Given the description of an element on the screen output the (x, y) to click on. 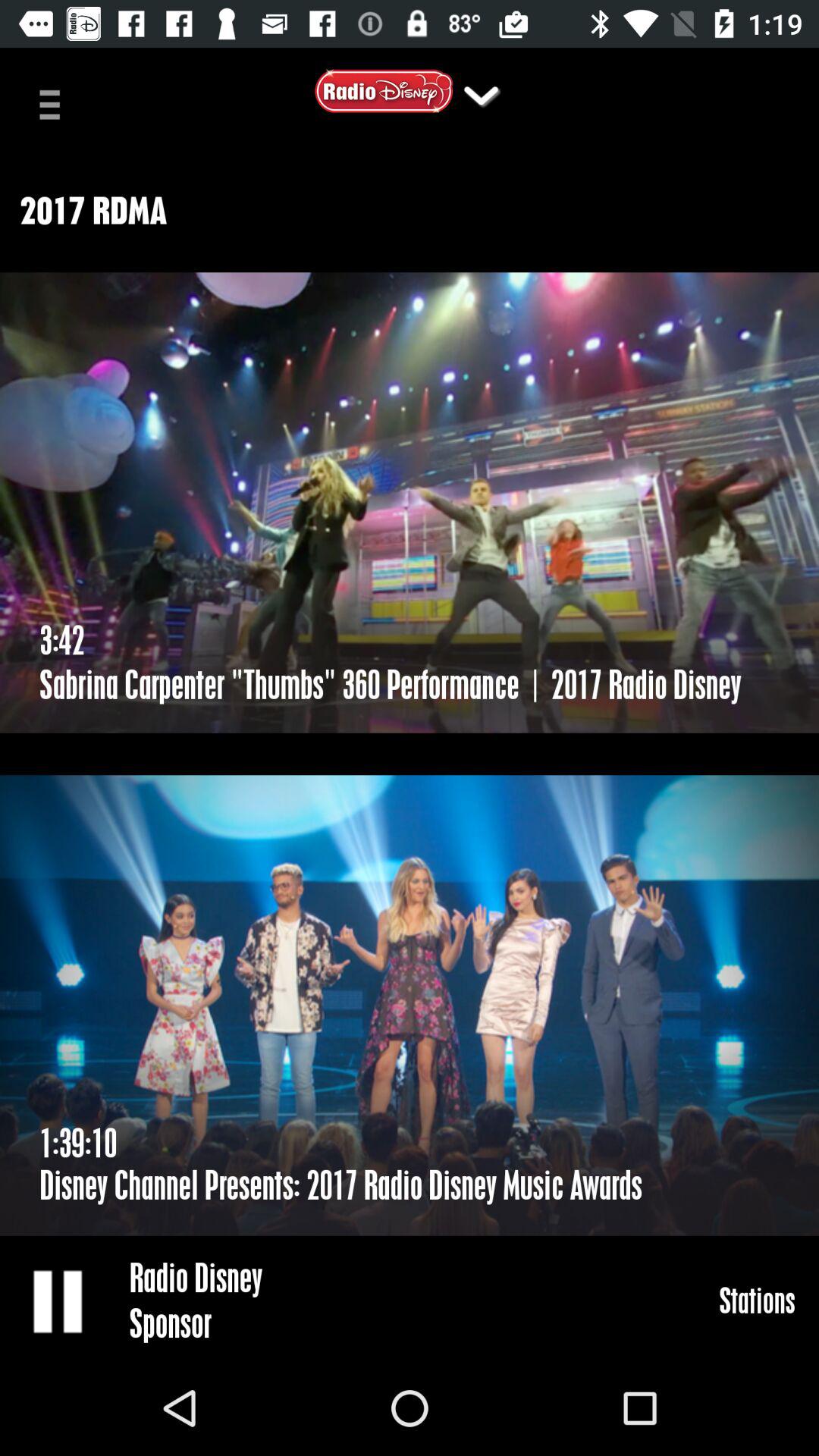
press the item above the 2017 rdma item (481, 95)
